Given the description of an element on the screen output the (x, y) to click on. 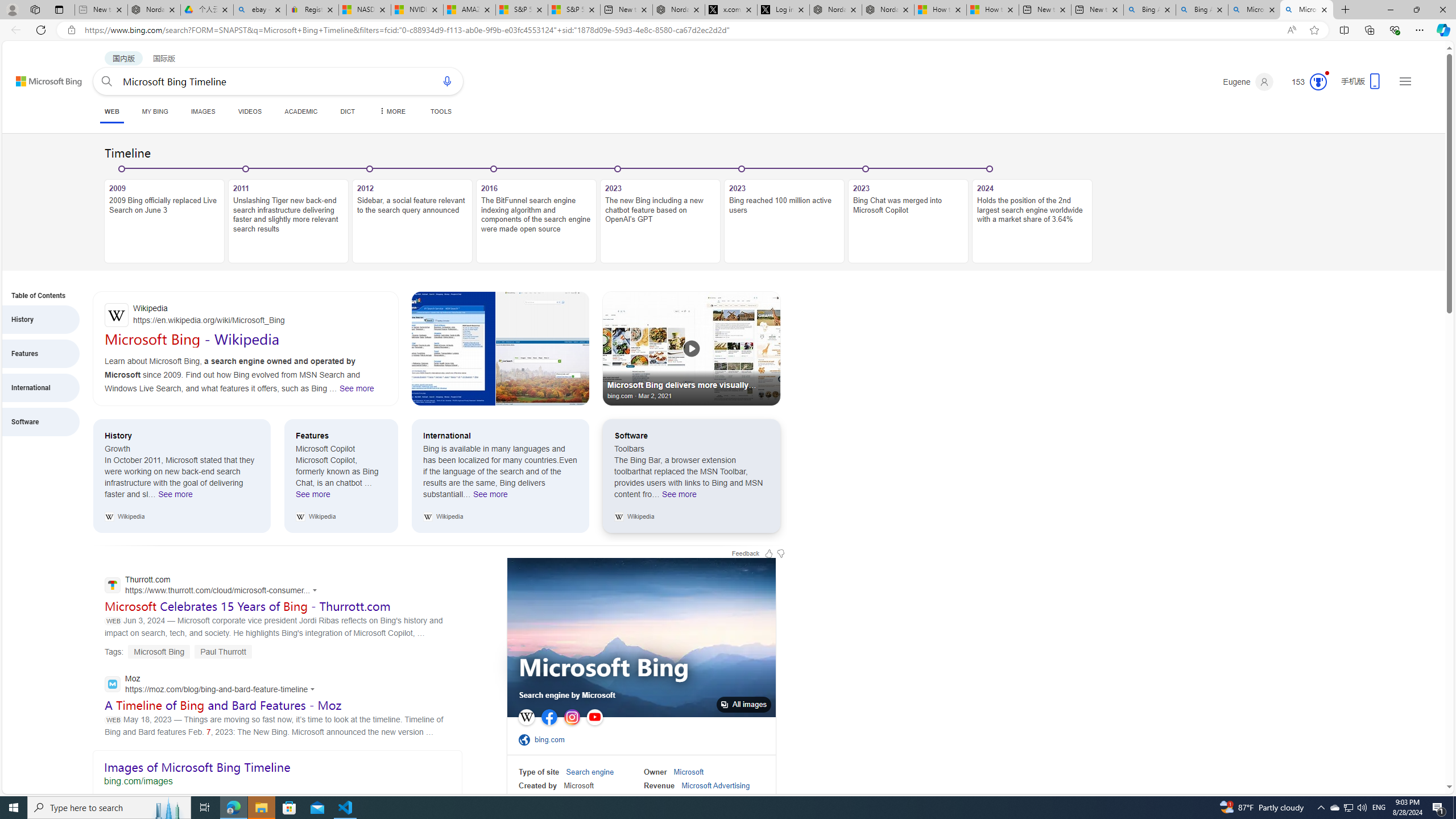
Microsoft Celebrates 15 Years of Bing - Thurrott.com (247, 605)
All images (641, 637)
Thurrott.com (213, 586)
See more GeneratedCaptionsTabForHeroSec (356, 388)
IMAGES (202, 111)
